Given the description of an element on the screen output the (x, y) to click on. 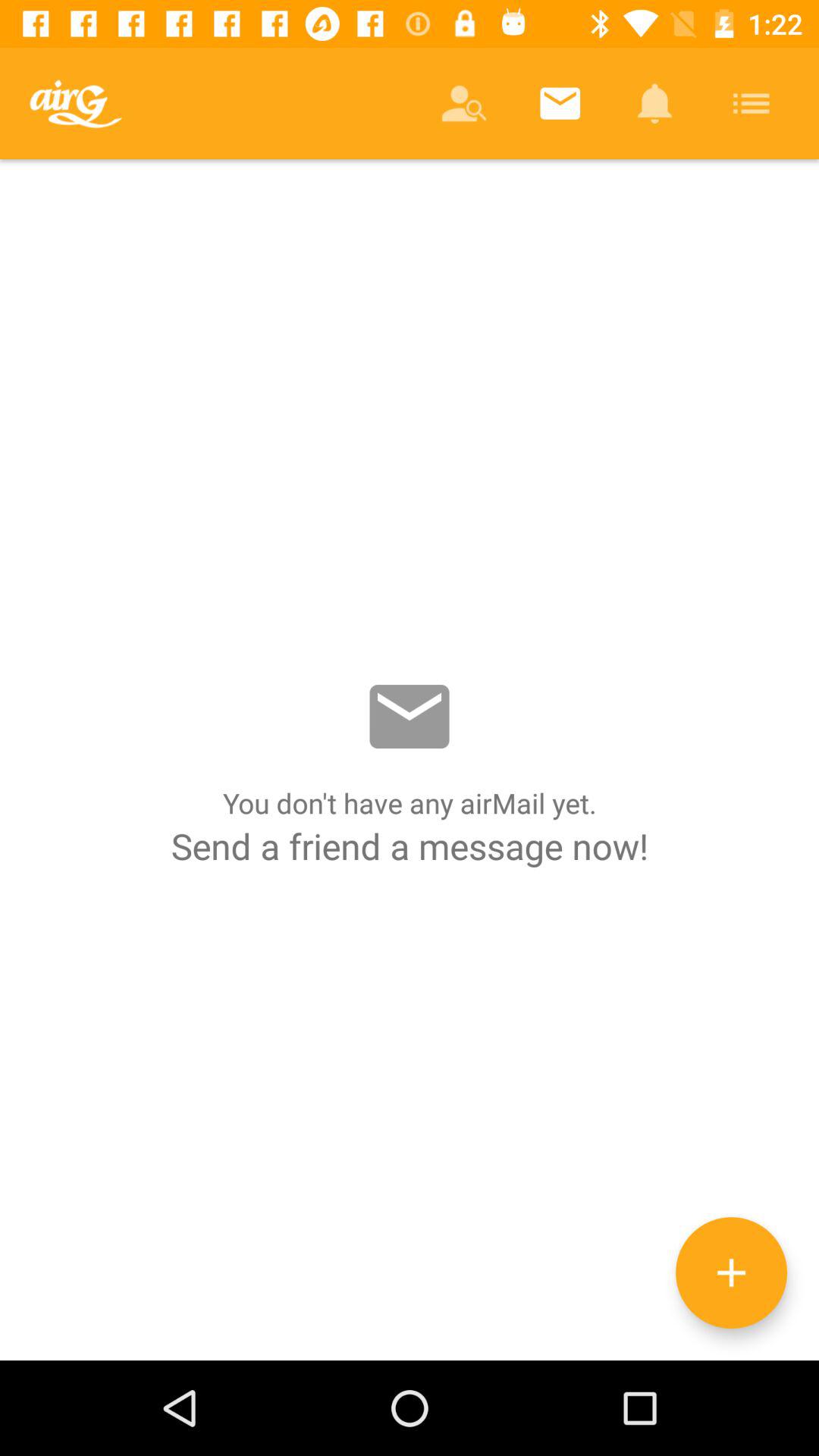
compose message (731, 1272)
